Given the description of an element on the screen output the (x, y) to click on. 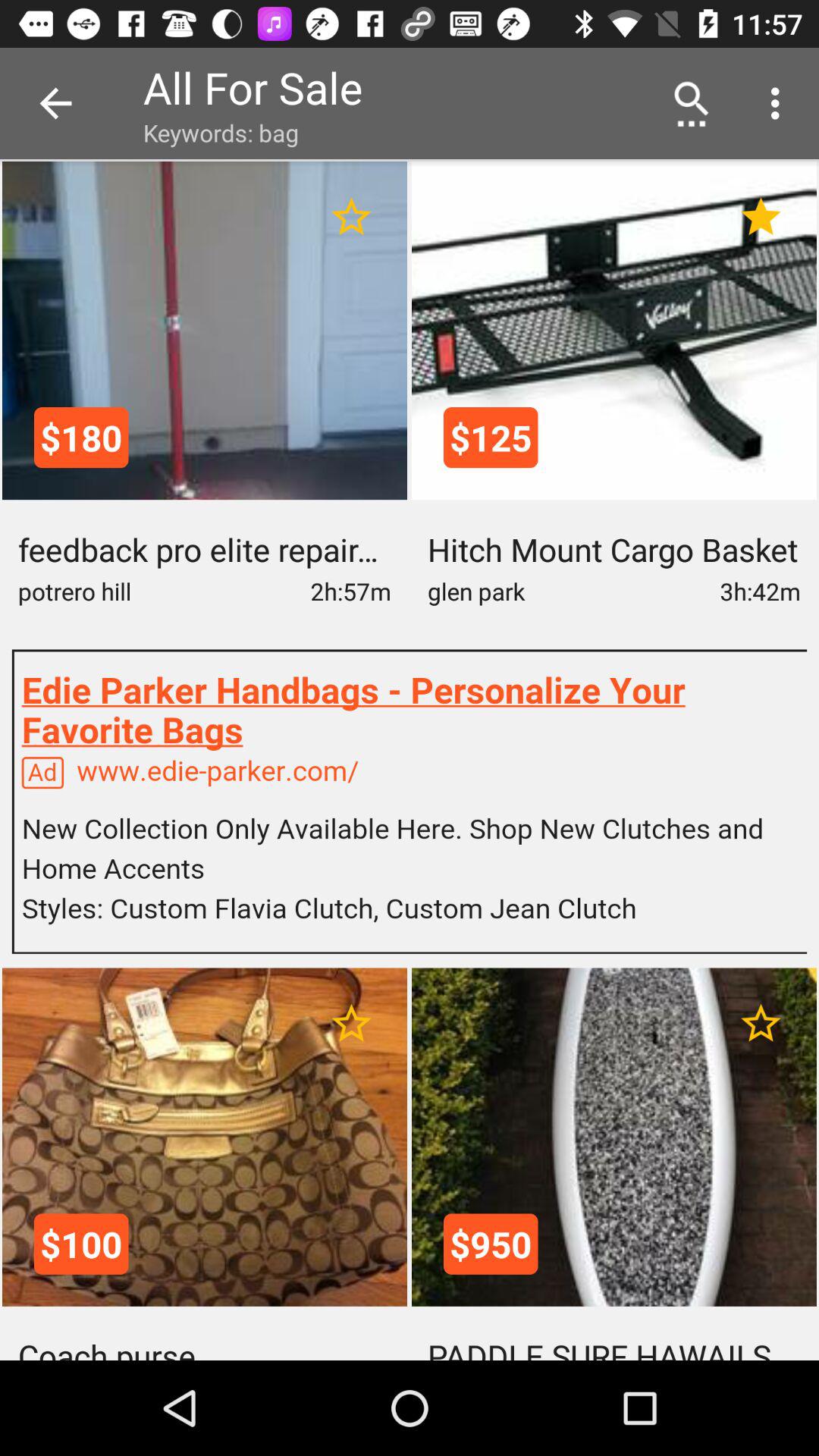
add item to favorites (351, 1023)
